Given the description of an element on the screen output the (x, y) to click on. 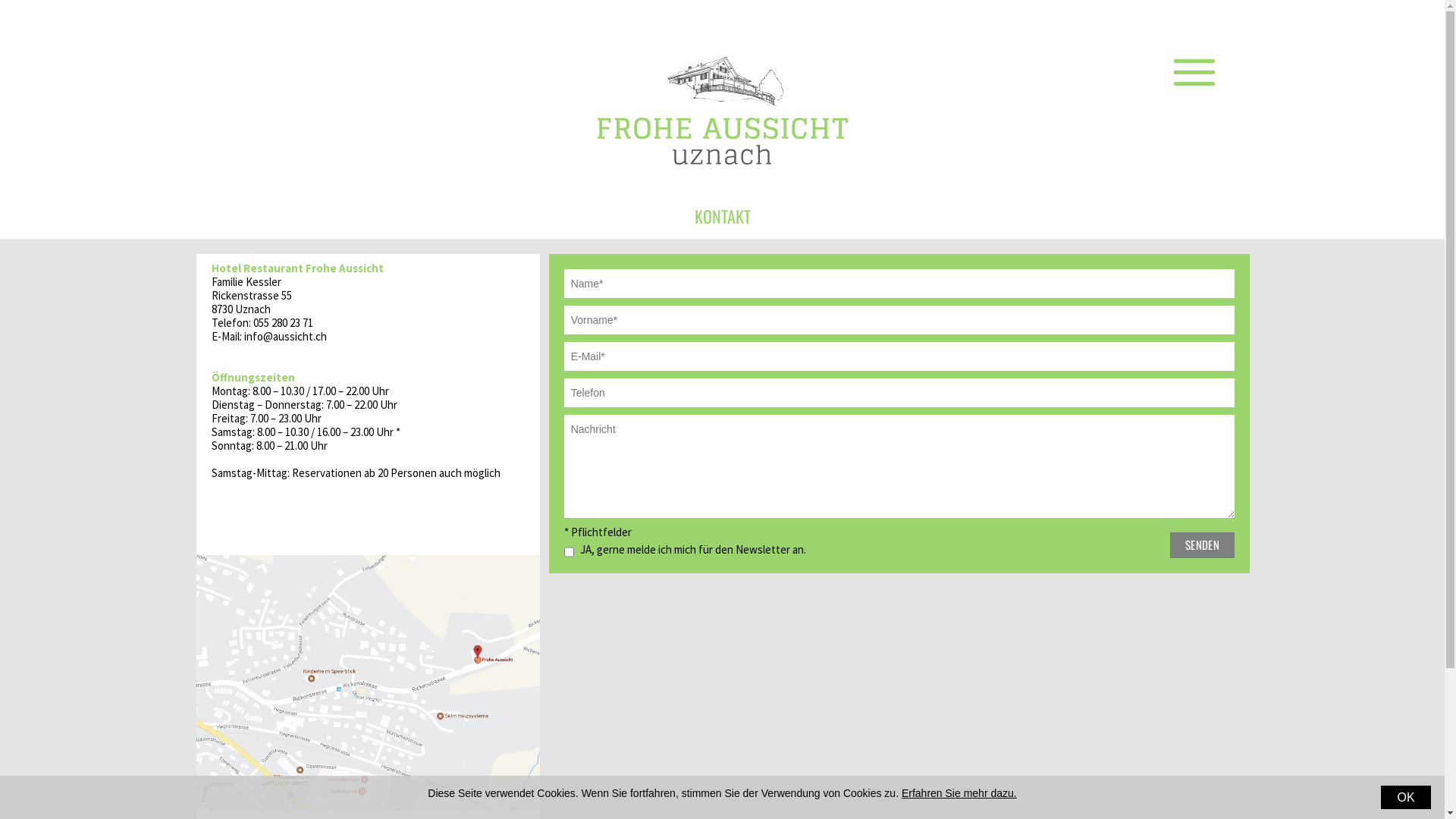
SENDEN Element type: text (1202, 545)
info@aussicht.ch Element type: text (285, 336)
KONTAKT Element type: text (721, 215)
Erfahren Sie mehr dazu. Element type: text (958, 793)
